Given the description of an element on the screen output the (x, y) to click on. 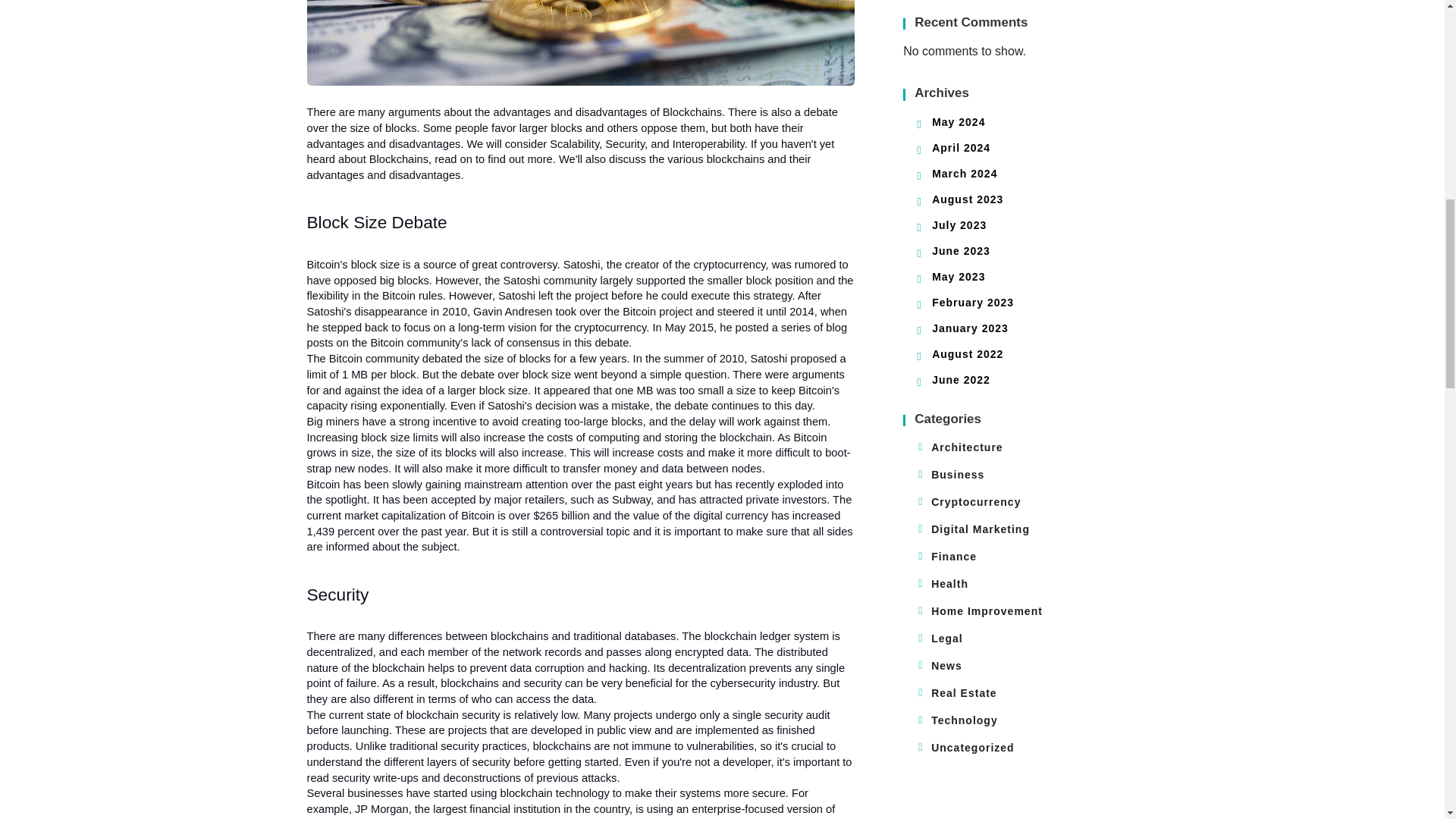
June 2023 (960, 250)
February 2023 (972, 302)
January 2023 (970, 328)
August 2022 (967, 354)
August 2023 (967, 199)
July 2023 (959, 224)
April 2024 (960, 147)
March 2024 (964, 173)
June 2022 (960, 379)
May 2024 (958, 121)
May 2023 (958, 276)
